Given the description of an element on the screen output the (x, y) to click on. 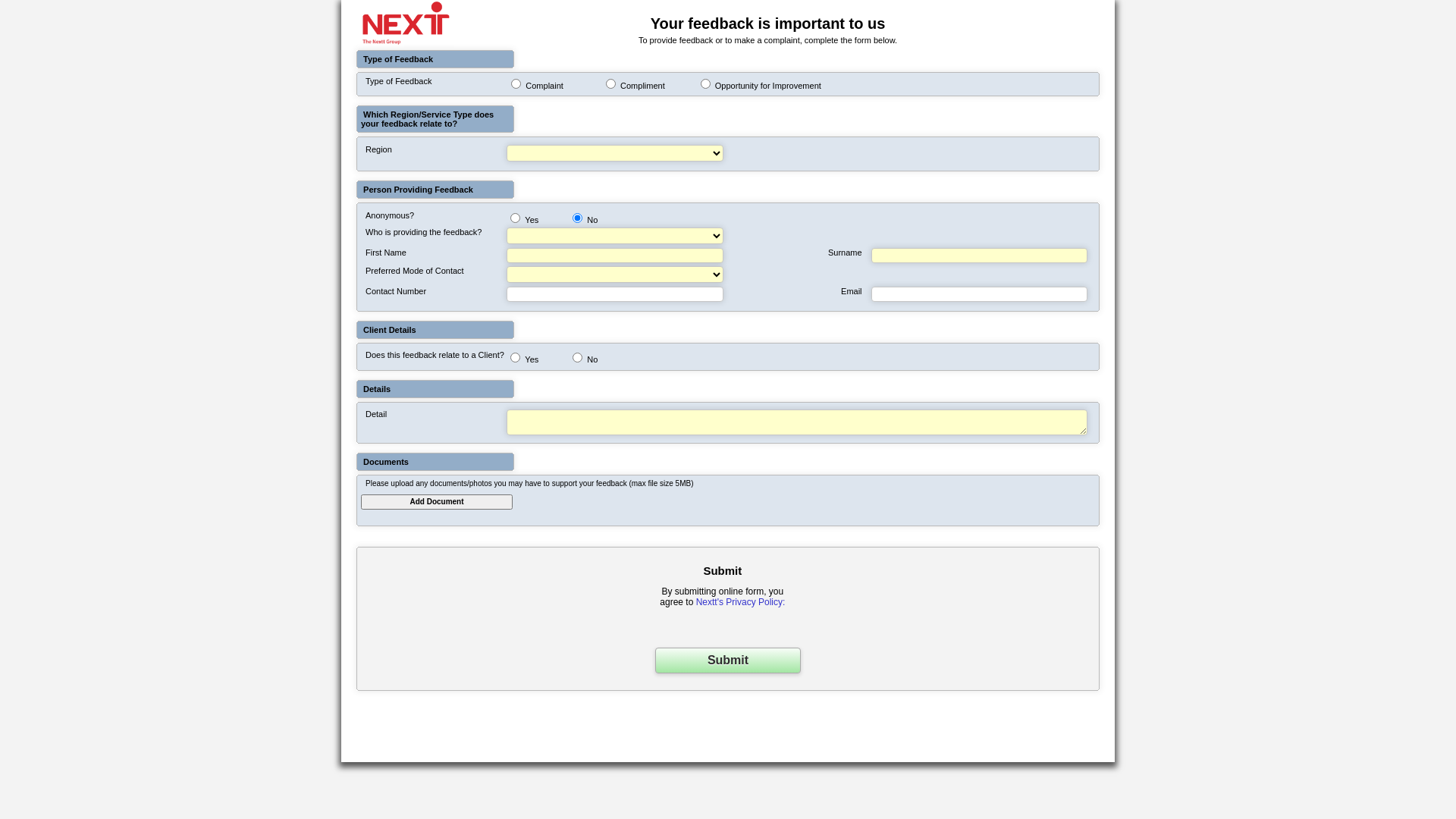
Nextt's Privacy Policy: Element type: text (740, 601)
Yes Element type: text (515, 357)
Add Document Element type: text (436, 501)
No Element type: text (577, 217)
Submit Element type: text (727, 660)
Yes Element type: text (515, 217)
No Element type: text (577, 357)
